Given the description of an element on the screen output the (x, y) to click on. 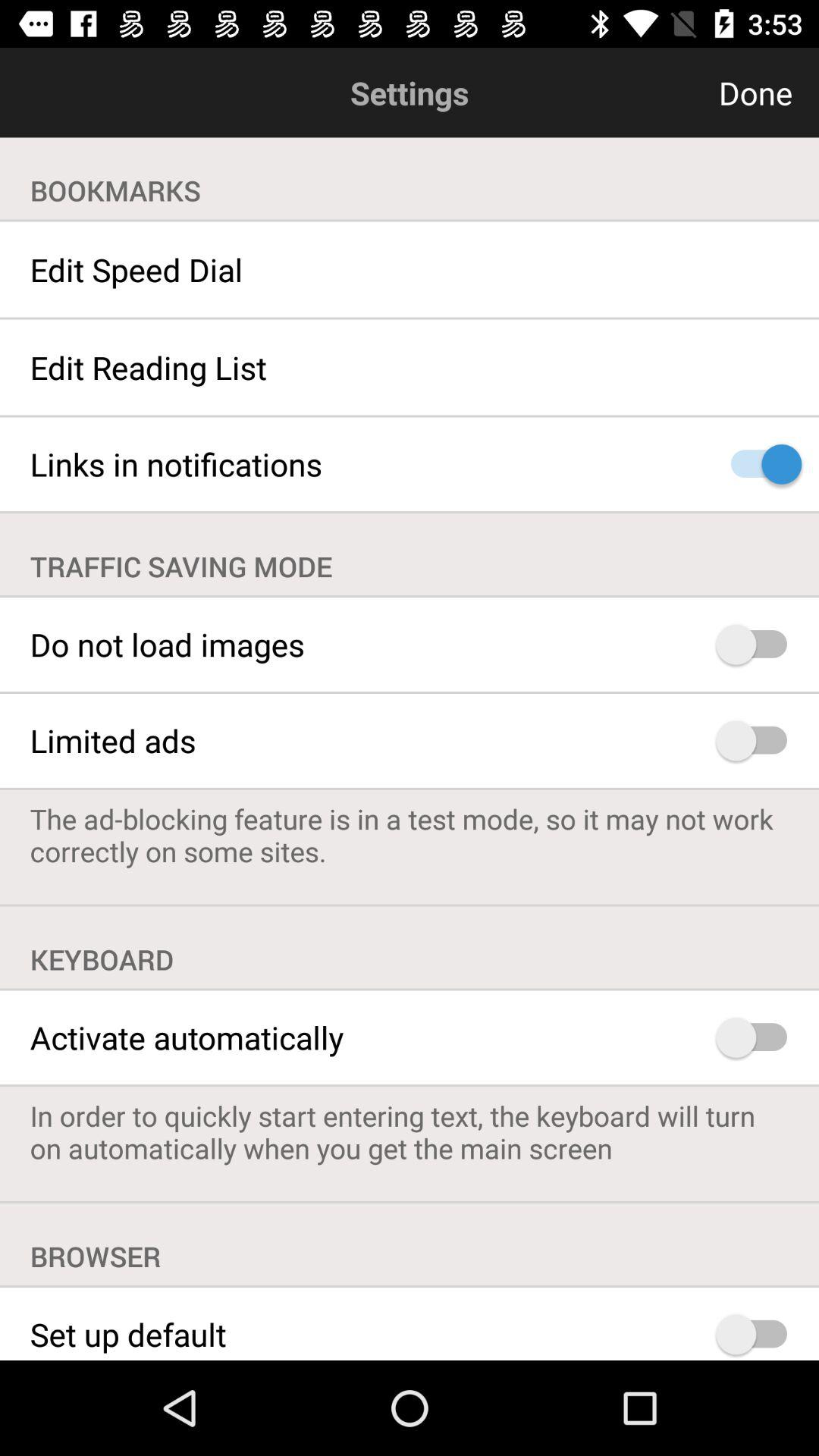
select icon next to the settings app (682, 92)
